Given the description of an element on the screen output the (x, y) to click on. 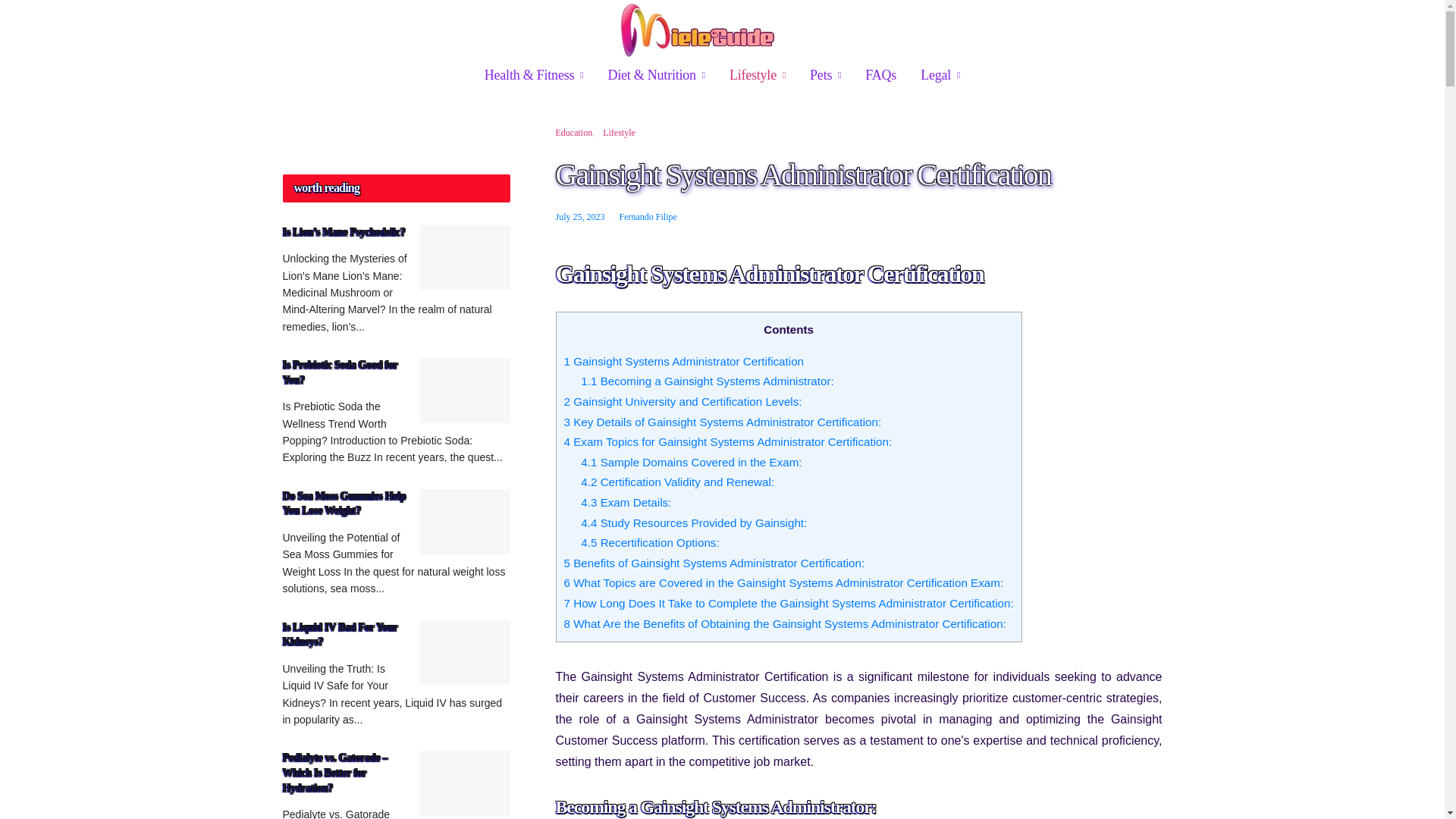
View all posts by Fernando Filipe (648, 216)
